Given the description of an element on the screen output the (x, y) to click on. 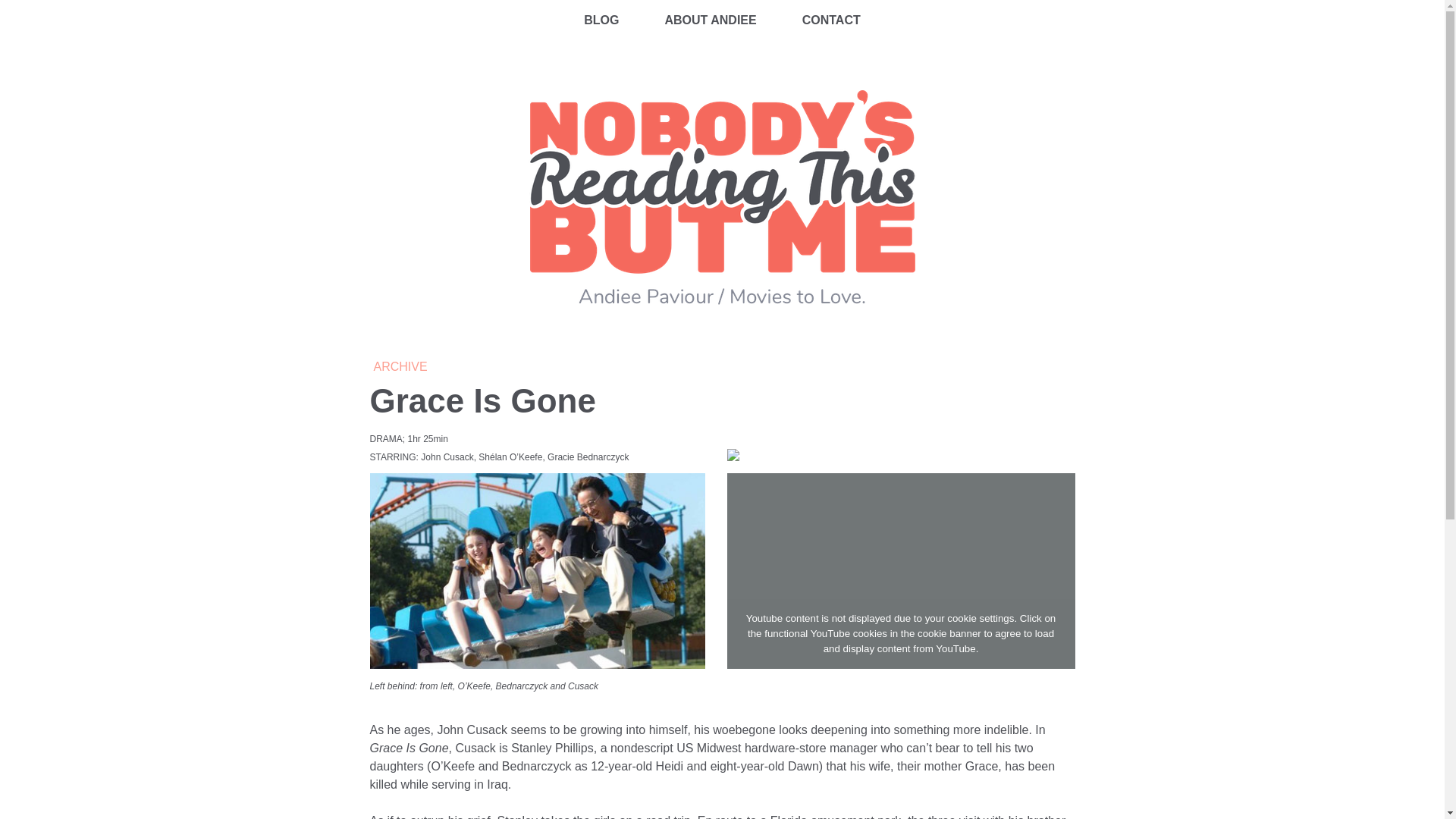
functional YouTube cookies in the cookie banner (872, 633)
ARCHIVE (399, 366)
ABOUT ANDIEE (710, 20)
CONTACT (830, 20)
BLOG (601, 20)
